Given the description of an element on the screen output the (x, y) to click on. 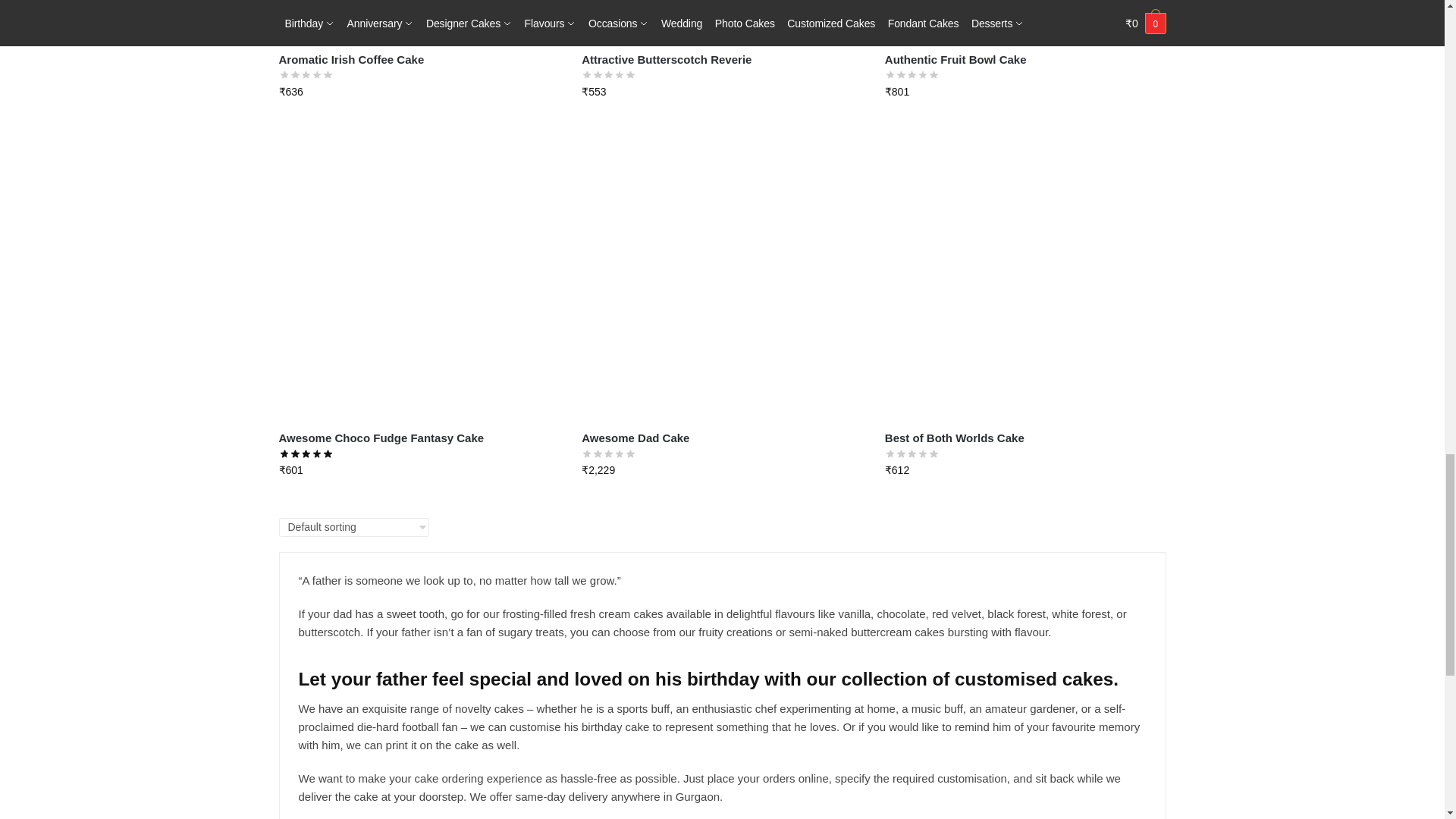
Awesome Choco Fudge Fantasy Cake (419, 279)
Attractive Butterscotch Reverie (720, 20)
Authentic Fruit Bowl Cake (1025, 20)
Aromatic Irish Coffee Cake (419, 20)
Best of Both Worlds Cake (1025, 279)
Awesome Dad Cake (720, 279)
